Given the description of an element on the screen output the (x, y) to click on. 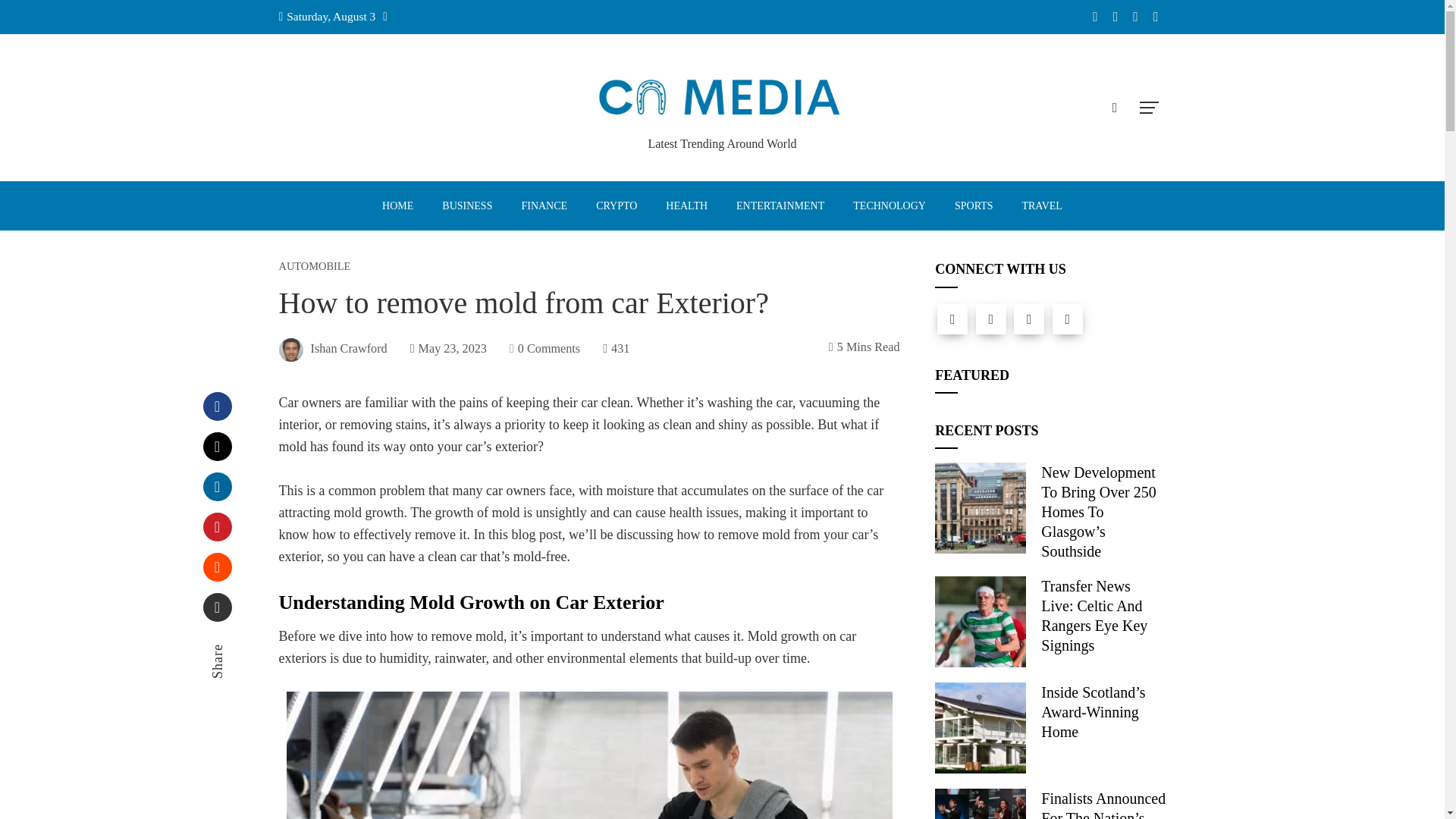
TRAVEL (1041, 205)
Twitter (217, 446)
Pinterest (217, 526)
BUSINESS (466, 205)
SPORTS (974, 205)
HOME (397, 205)
Latest Trending Around World (721, 143)
Email (217, 606)
HEALTH (686, 205)
AUTOMOBILE (314, 266)
CRYPTO (616, 205)
Twitter (990, 318)
FINANCE (543, 205)
Youtube (1067, 318)
Stumbleupon (217, 566)
